Given the description of an element on the screen output the (x, y) to click on. 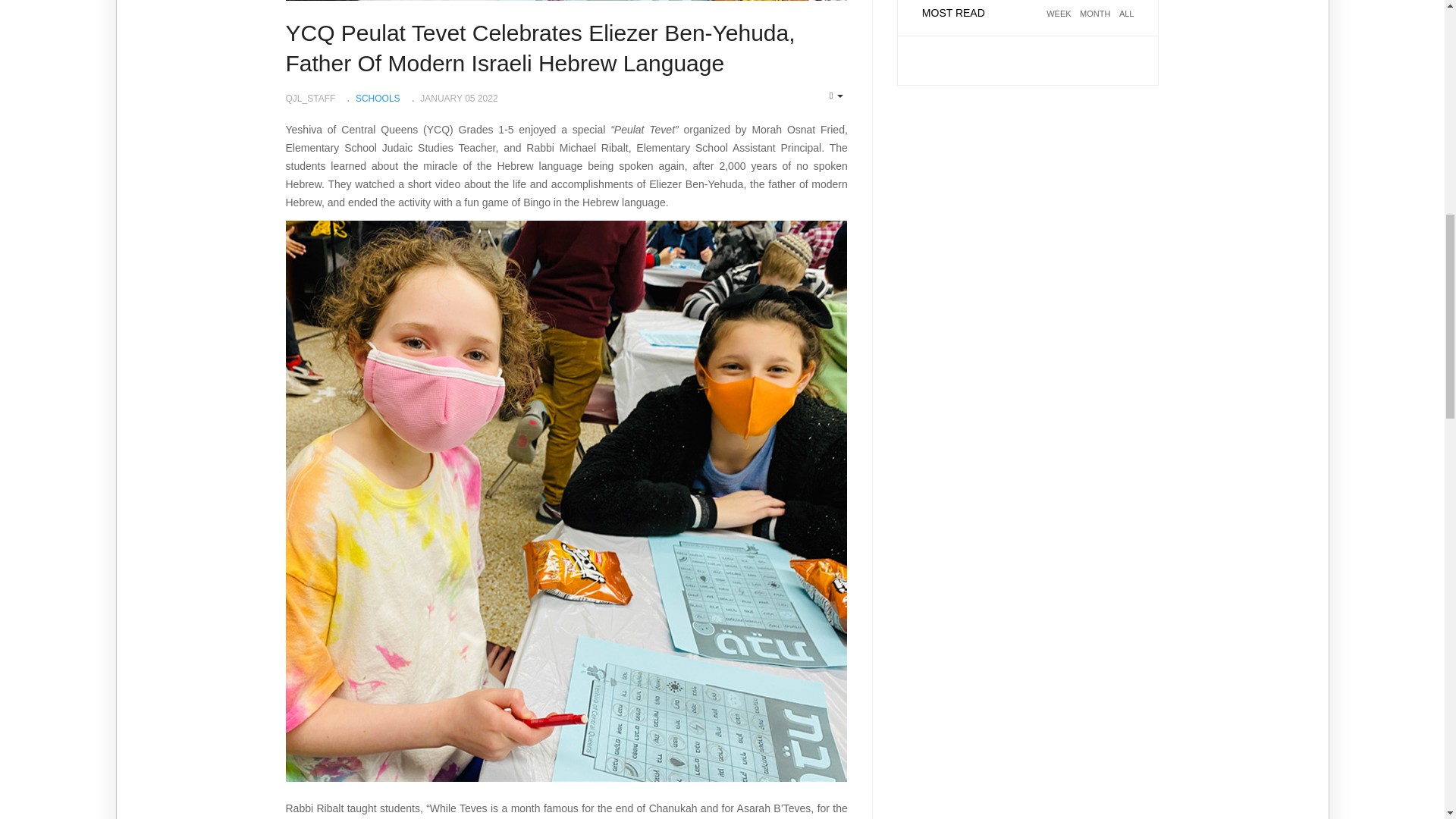
Month (1094, 22)
Week (1058, 22)
